Given the description of an element on the screen output the (x, y) to click on. 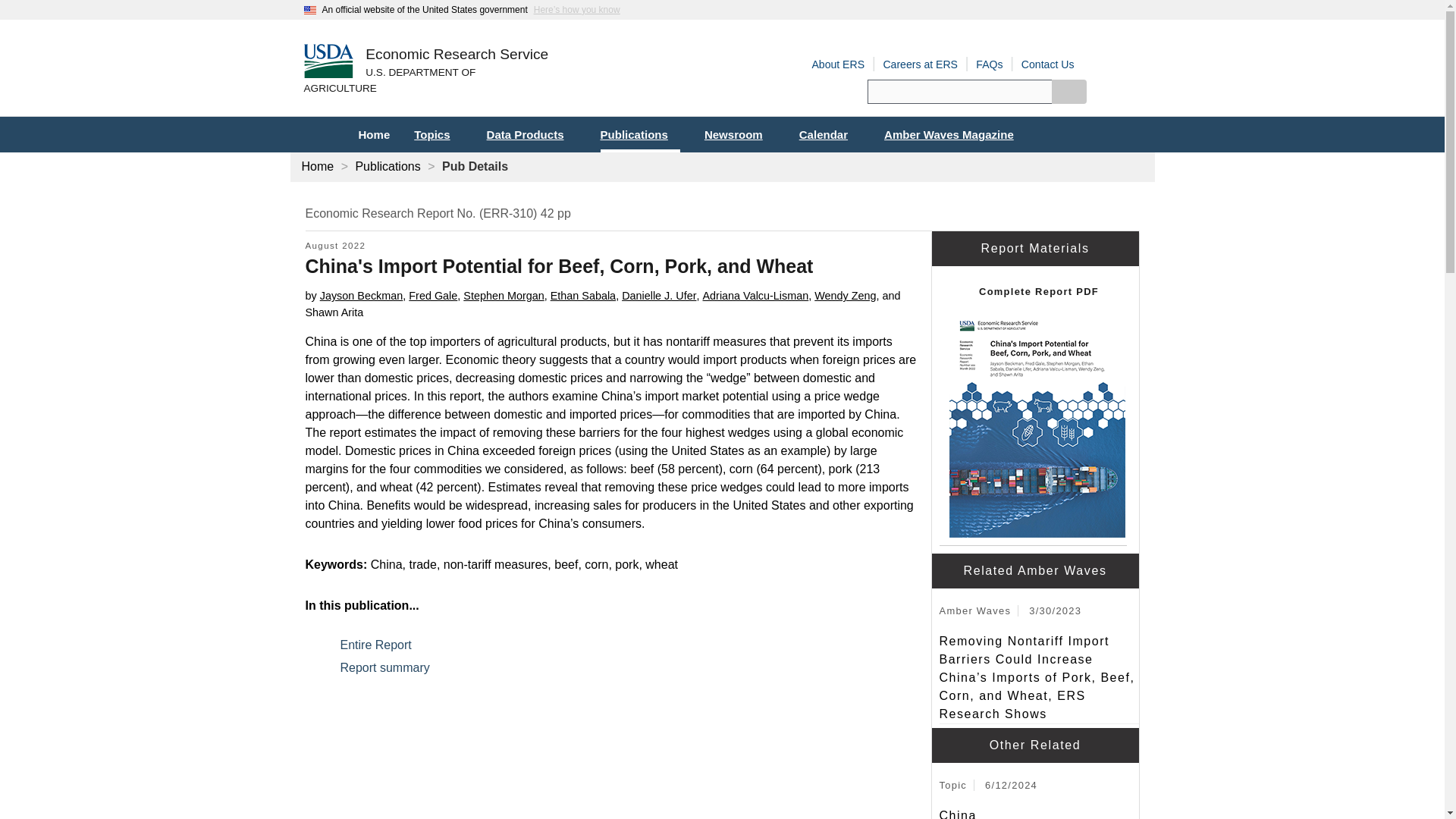
USDA.gov (425, 81)
FAQs (989, 63)
Home (456, 54)
Stephen Morgan (503, 295)
Report summary (392, 667)
Contact Us (1048, 63)
Jayson Beckman (361, 295)
Danielle J. Ufer (658, 295)
Wendy Zeng (844, 295)
Topics (437, 134)
